Given the description of an element on the screen output the (x, y) to click on. 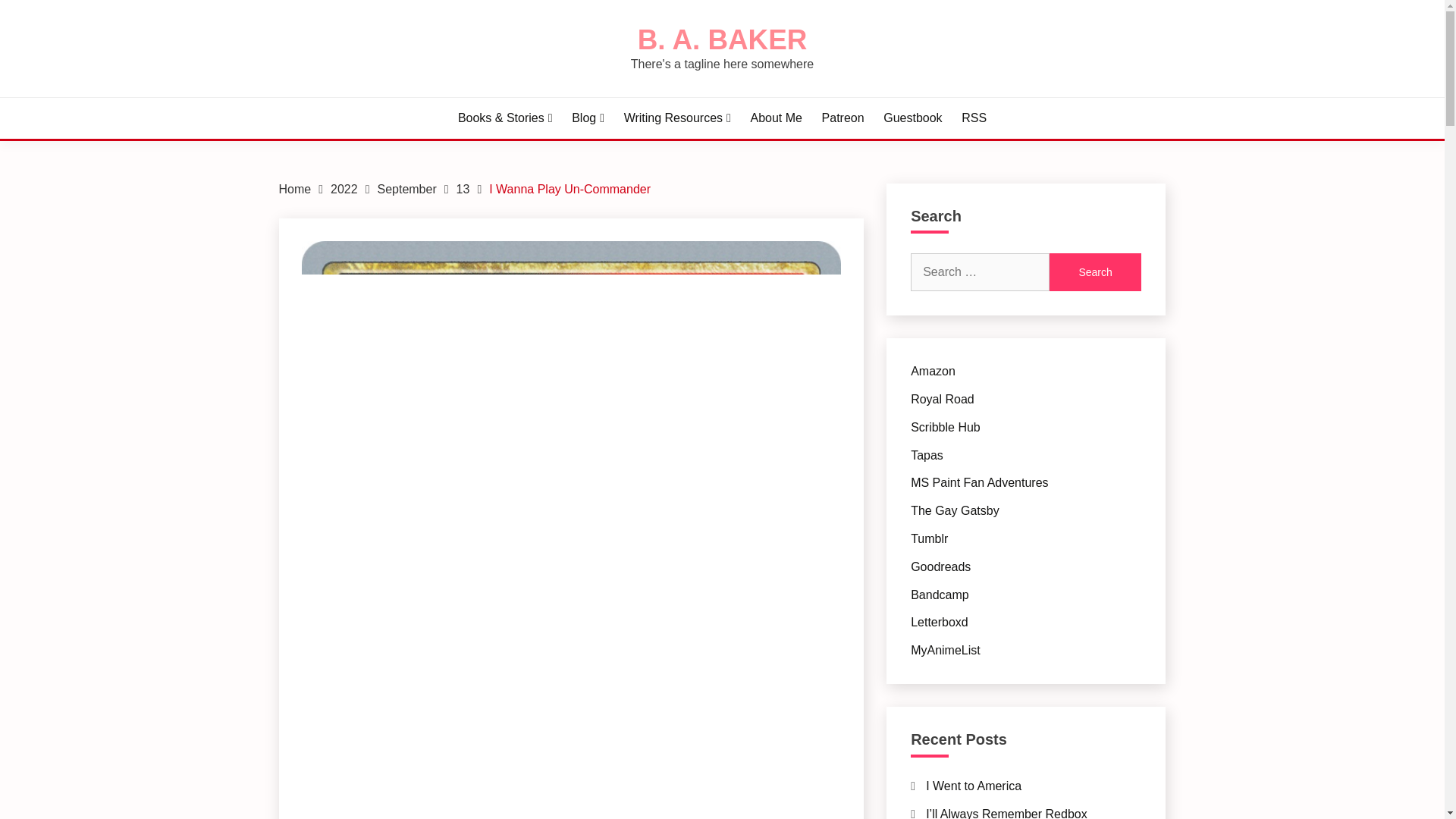
Writing Resources (677, 117)
Home (295, 188)
B. A. BAKER (722, 39)
2022 (344, 188)
September (406, 188)
Search (1095, 272)
Patreon (843, 117)
Guestbook (912, 117)
RSS (973, 117)
About Me (775, 117)
